Given the description of an element on the screen output the (x, y) to click on. 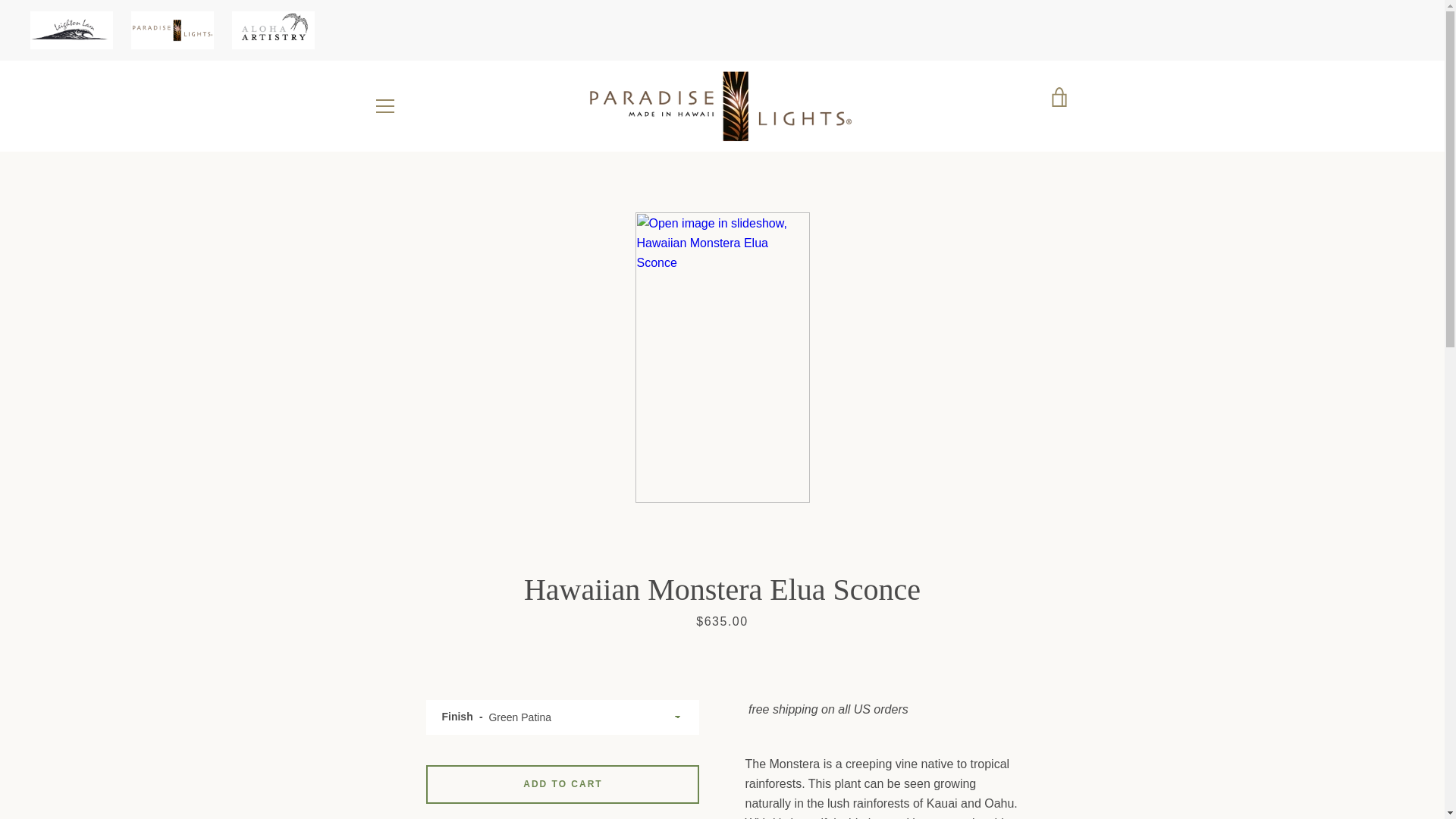
MENU (384, 105)
Mastercard (1022, 761)
SUBSCRIBE (1029, 688)
Diners Club (918, 761)
American Express (883, 761)
Ecommerce Software by Shopify (752, 771)
CONTACT US (405, 618)
ADD TO CART (562, 783)
Visa (1057, 779)
